Given the description of an element on the screen output the (x, y) to click on. 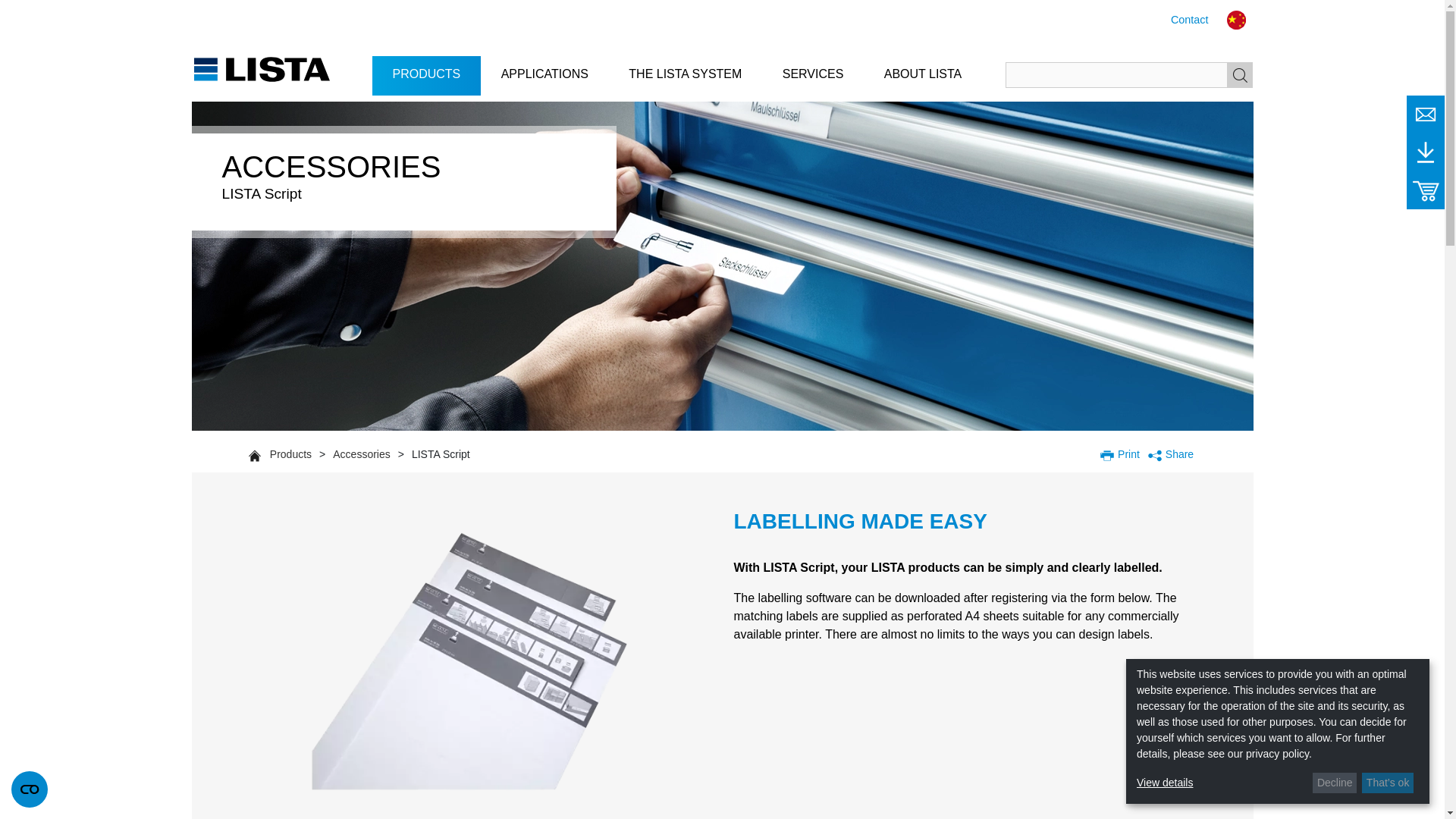
PRODUCTS (427, 73)
Contact (1189, 19)
Change Cookie Consent (29, 789)
